Given the description of an element on the screen output the (x, y) to click on. 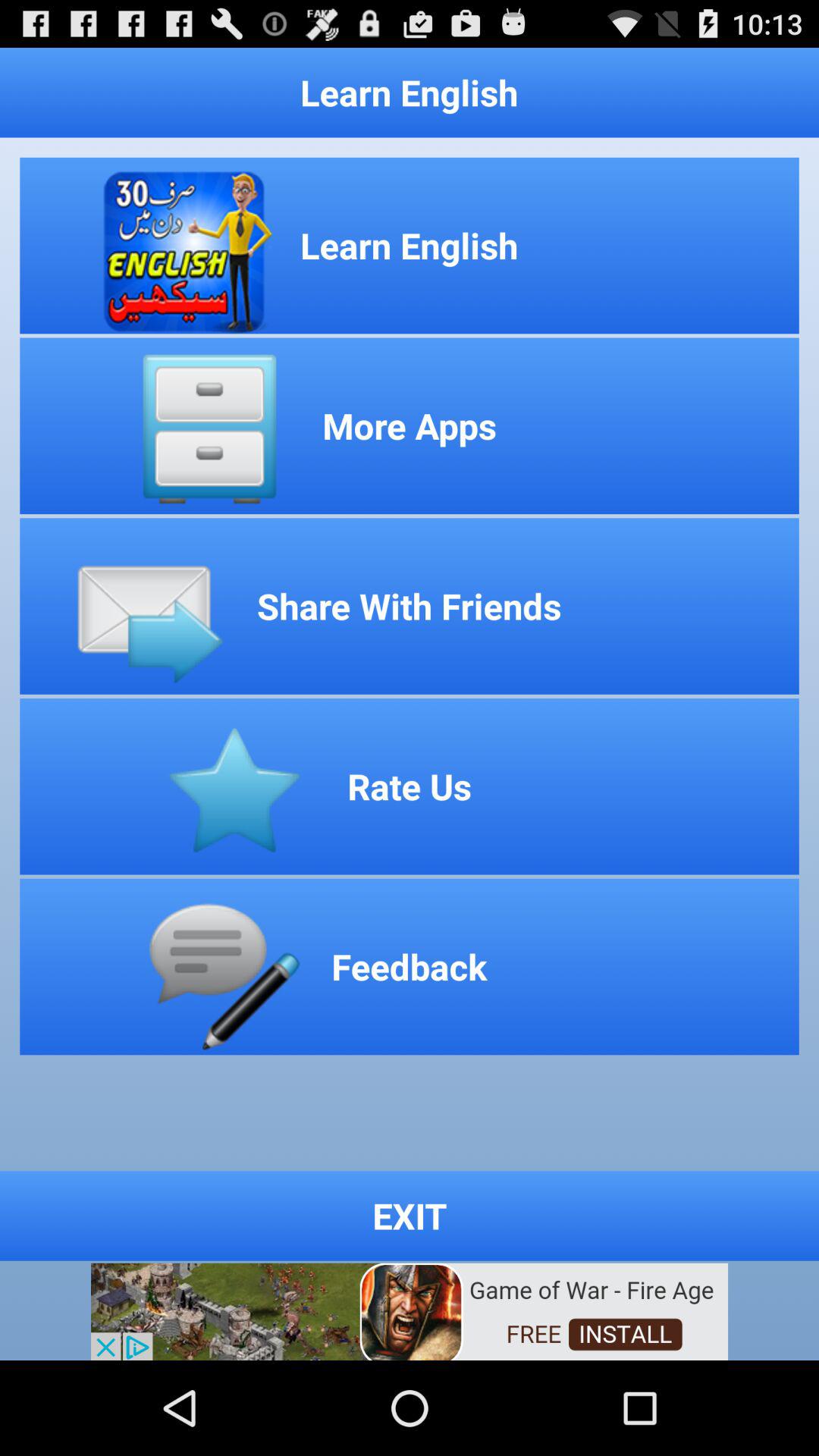
external advertisement (409, 1310)
